Given the description of an element on the screen output the (x, y) to click on. 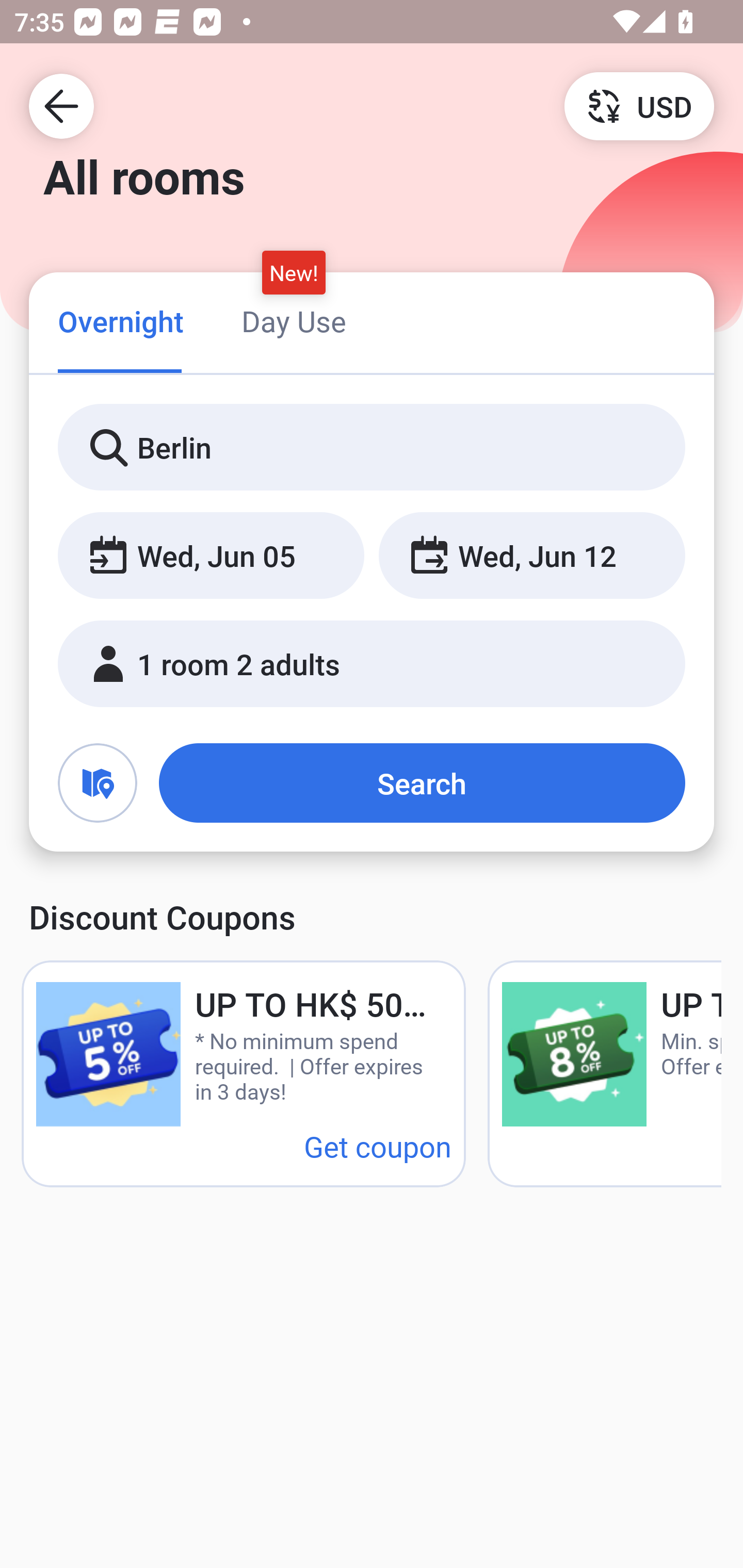
USD (639, 105)
New! (294, 272)
Day Use (293, 321)
Berlin (371, 447)
Wed, Jun 05 (210, 555)
Wed, Jun 12 (531, 555)
1 room 2 adults (371, 663)
Search (422, 783)
Get coupon (377, 1146)
